Given the description of an element on the screen output the (x, y) to click on. 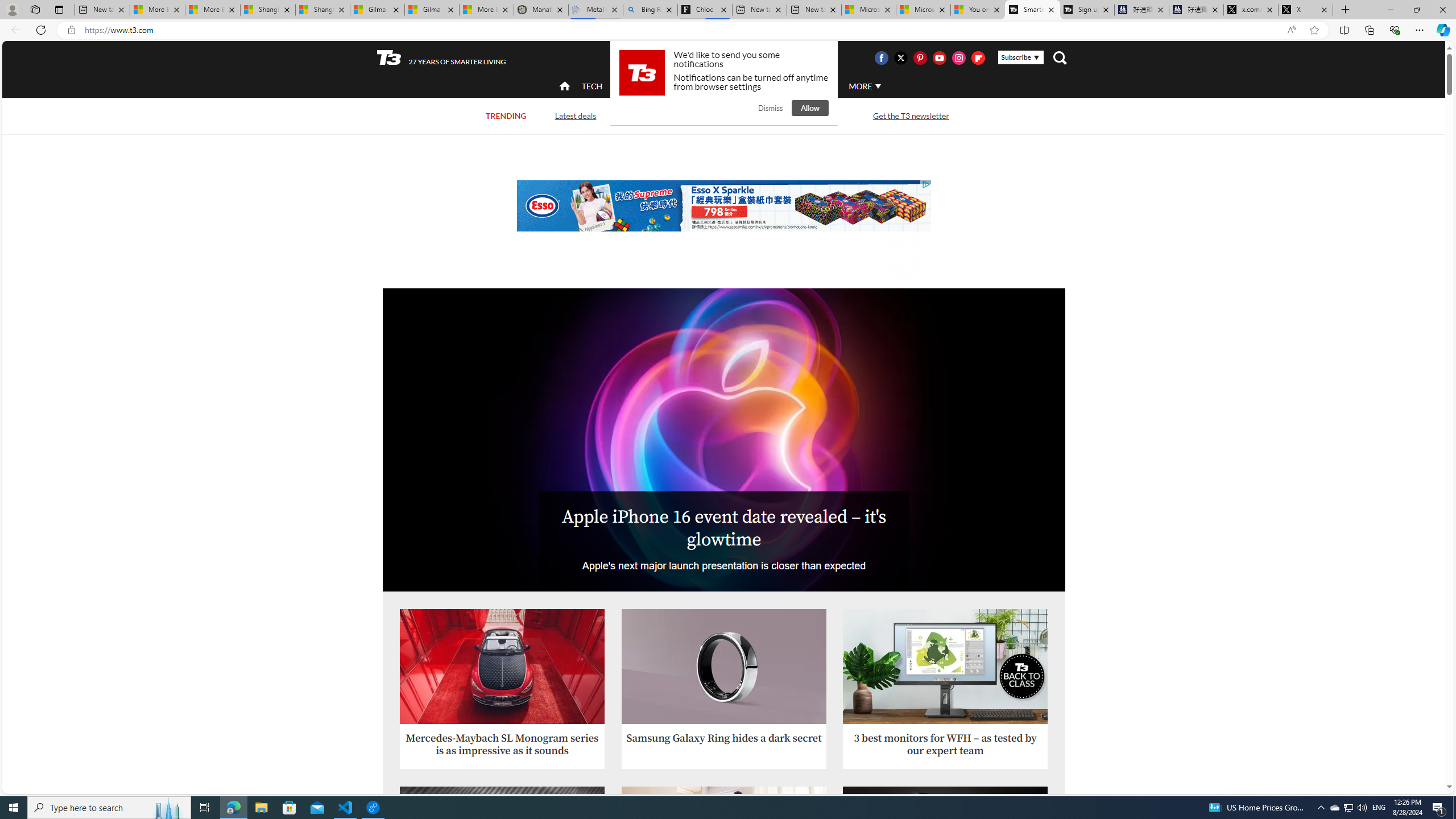
Manatee Mortality Statistics | FWC (541, 9)
Visit us on Instagram (958, 57)
HOME LIVING (701, 86)
Class: navigation__search (1059, 57)
Class: icon-svg (978, 57)
flag of UK (752, 57)
Apple invite September 2024 (723, 439)
LUXURY (765, 85)
